Given the description of an element on the screen output the (x, y) to click on. 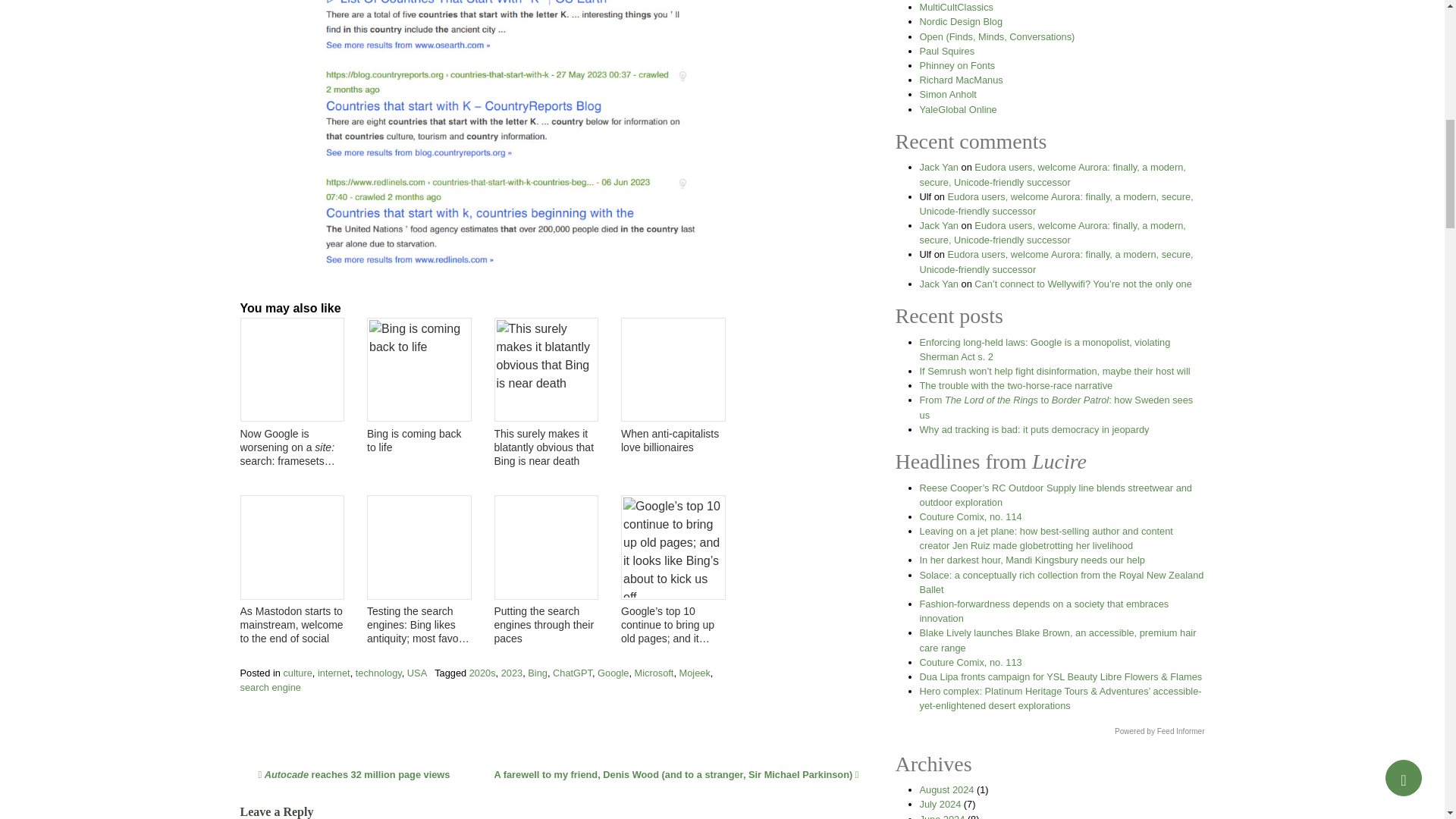
When anti-capitalists love billionaires (673, 440)
Mojeek (694, 672)
2020s (482, 672)
culture (296, 672)
internet (333, 672)
Microsoft (652, 672)
ChatGPT (572, 672)
Bing (537, 672)
Bing is coming back to life (418, 440)
technology (378, 672)
